Given the description of an element on the screen output the (x, y) to click on. 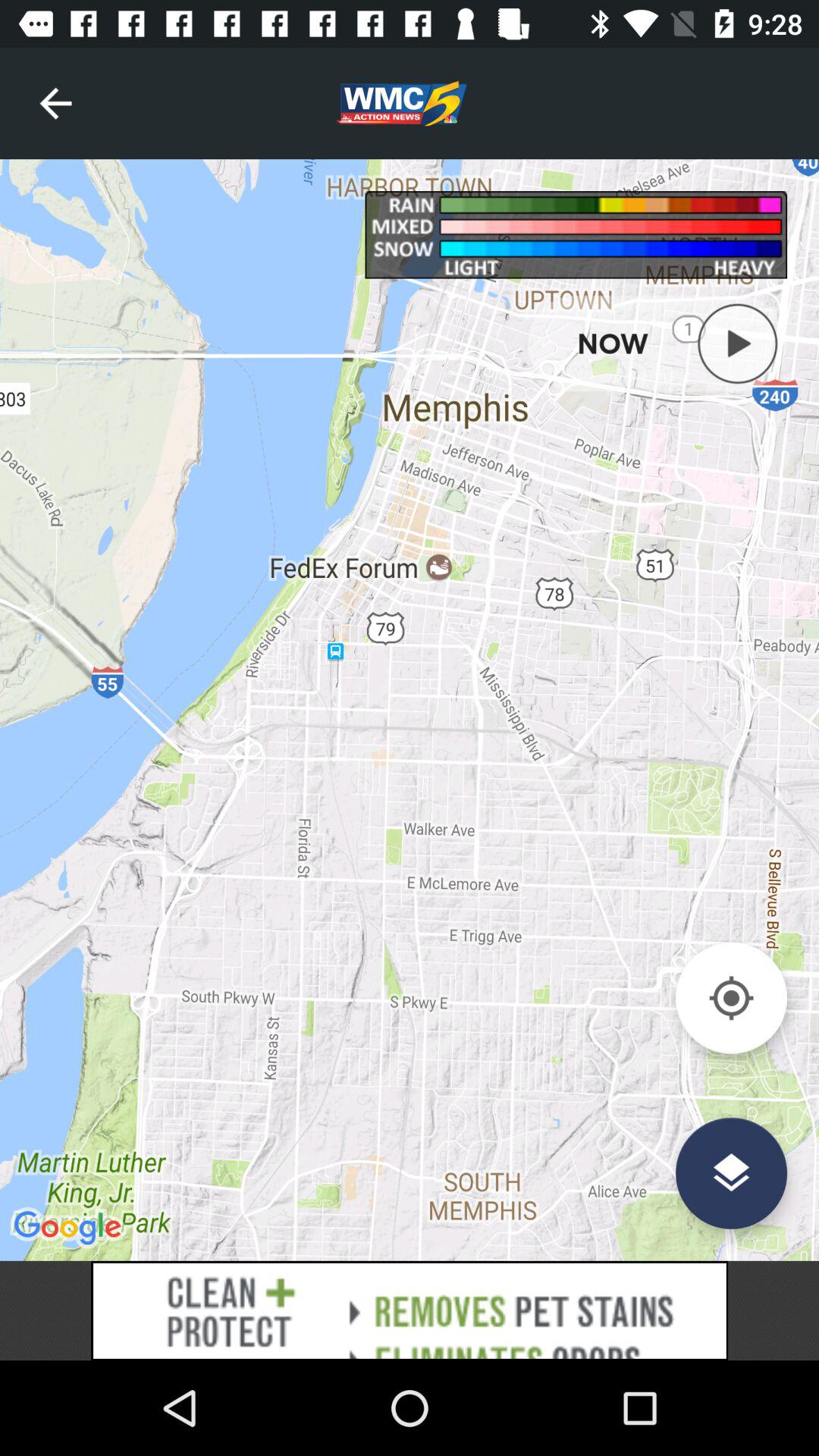
location (731, 997)
